Given the description of an element on the screen output the (x, y) to click on. 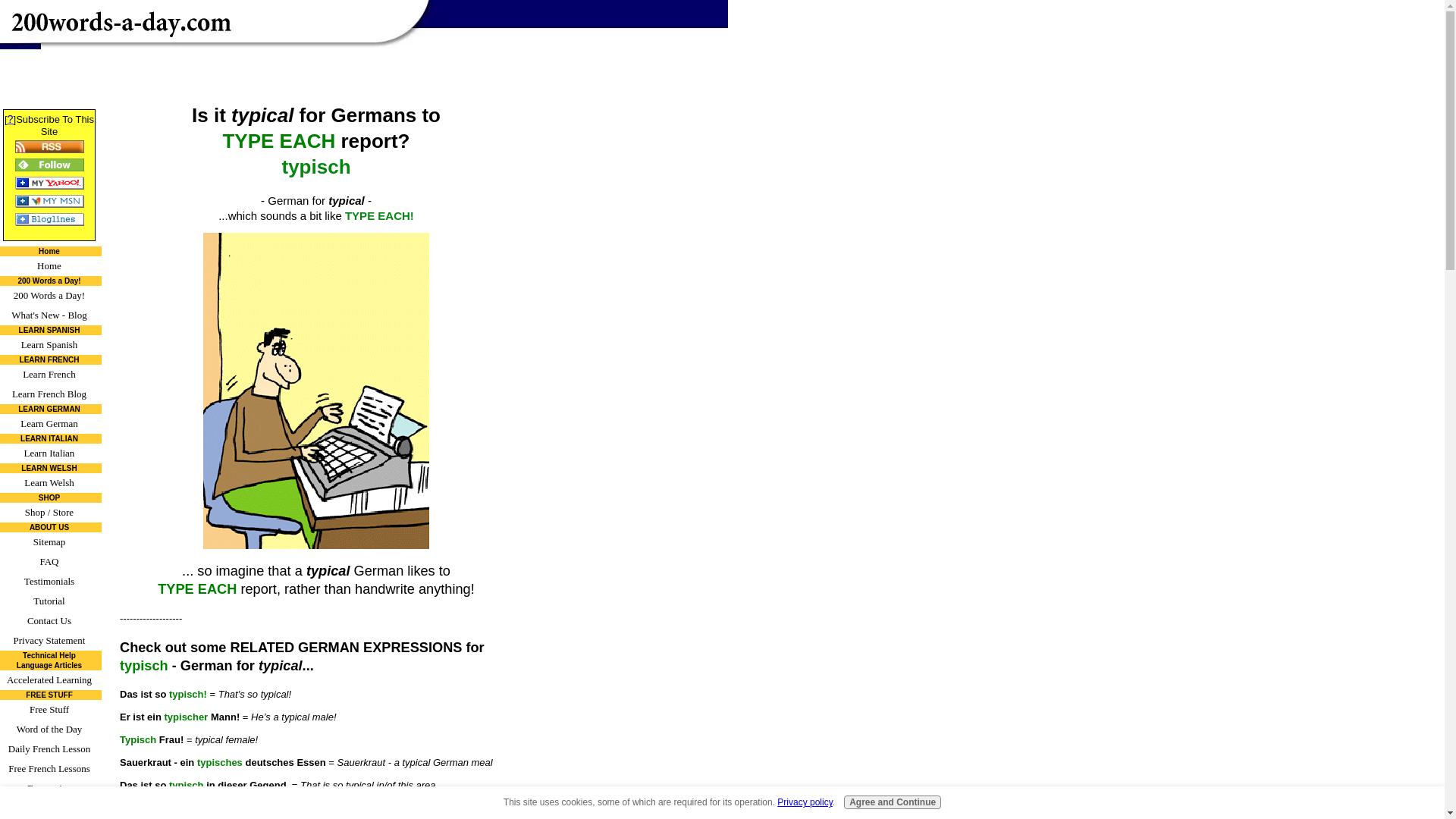
Accelerated Learning (50, 680)
Learn German (50, 424)
Testimonials (50, 581)
Learn Welsh (50, 483)
Privacy Statement (50, 640)
Learn Italian (50, 453)
Learn French (50, 374)
What's New - Blog (50, 315)
FAQ (50, 561)
typisch-german-for-typical (316, 390)
